Given the description of an element on the screen output the (x, y) to click on. 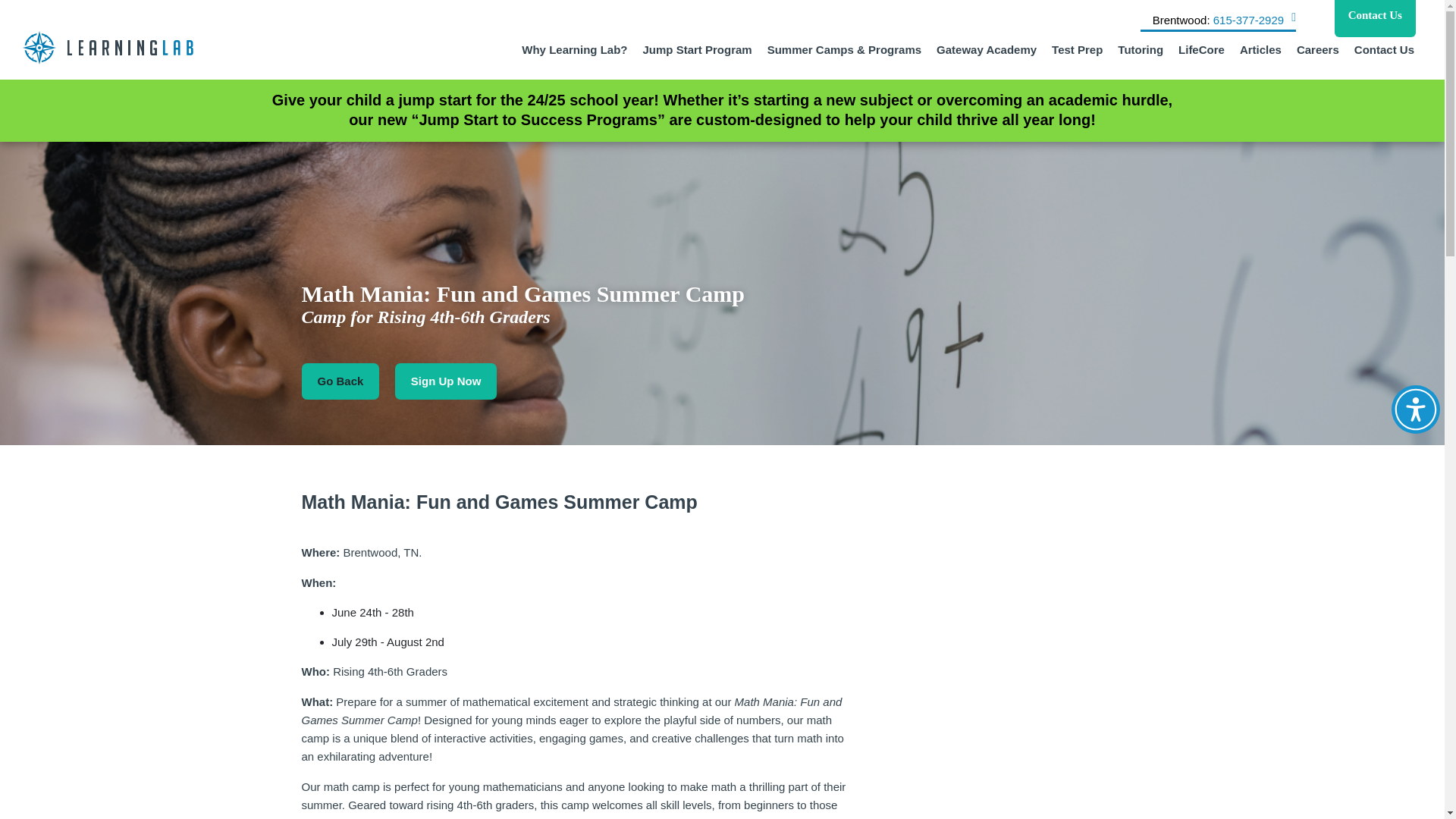
Why Learning Lab? (574, 45)
LifeCore (1200, 45)
615-377-2929 (1248, 19)
Test Prep (1076, 45)
Gateway Academy (986, 45)
Careers (1318, 45)
Sign Up Now (445, 380)
Go Back (340, 380)
Tutoring (1140, 45)
Contact Us (1375, 18)
Jump Start Program (696, 45)
Contact Us (1383, 45)
Accessibility Menu (1415, 409)
Articles (1260, 45)
